Given the description of an element on the screen output the (x, y) to click on. 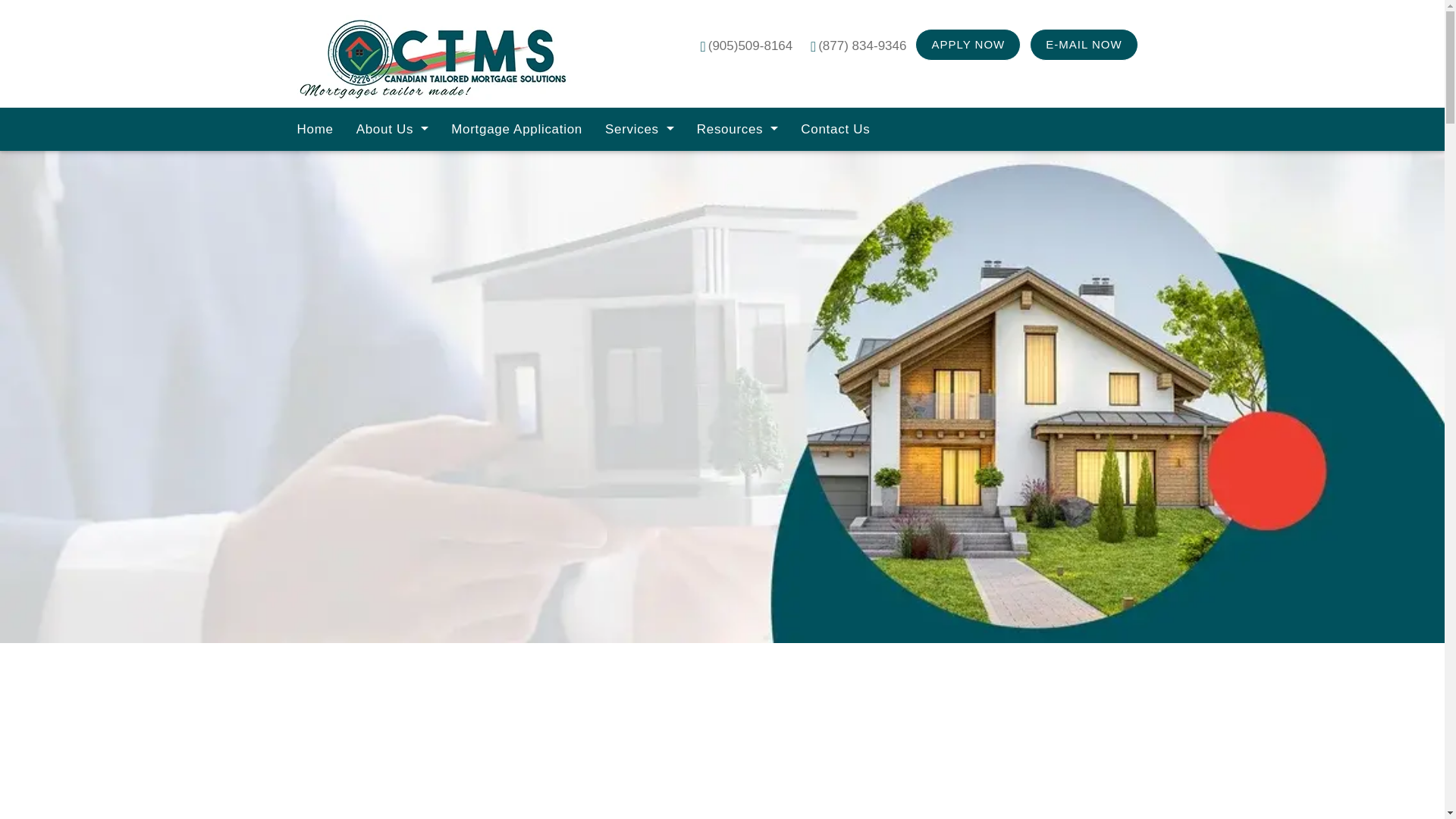
Mortgage Application (516, 129)
Home (314, 129)
Resources (737, 129)
About Us (393, 129)
E-MAIL NOW (1083, 44)
Services (639, 129)
APPLY NOW (967, 44)
